Given the description of an element on the screen output the (x, y) to click on. 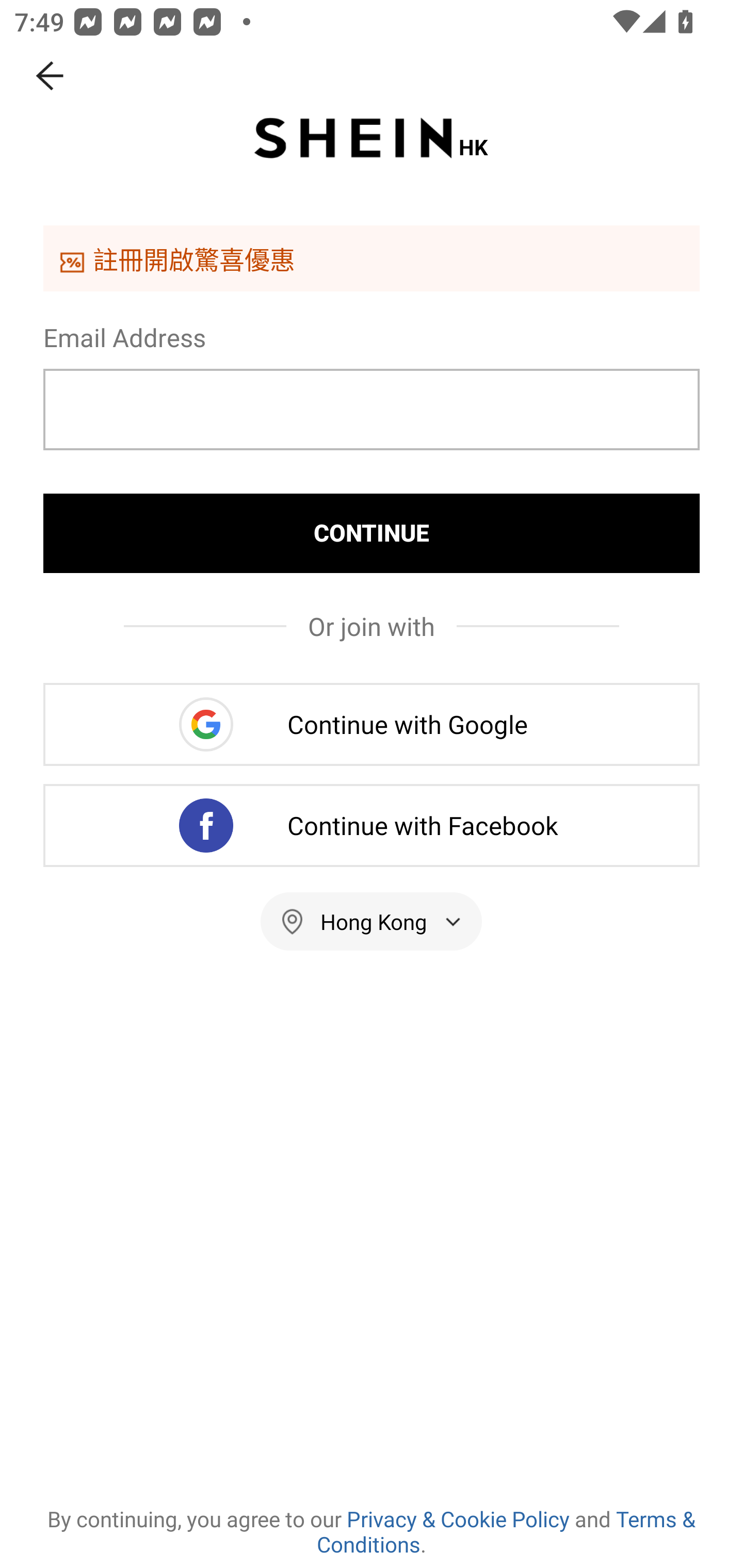
CLOSE (50, 75)
CONTINUE (371, 532)
Continue with Google (371, 724)
Continue with Facebook (371, 825)
Hong Kong (371, 921)
